Given the description of an element on the screen output the (x, y) to click on. 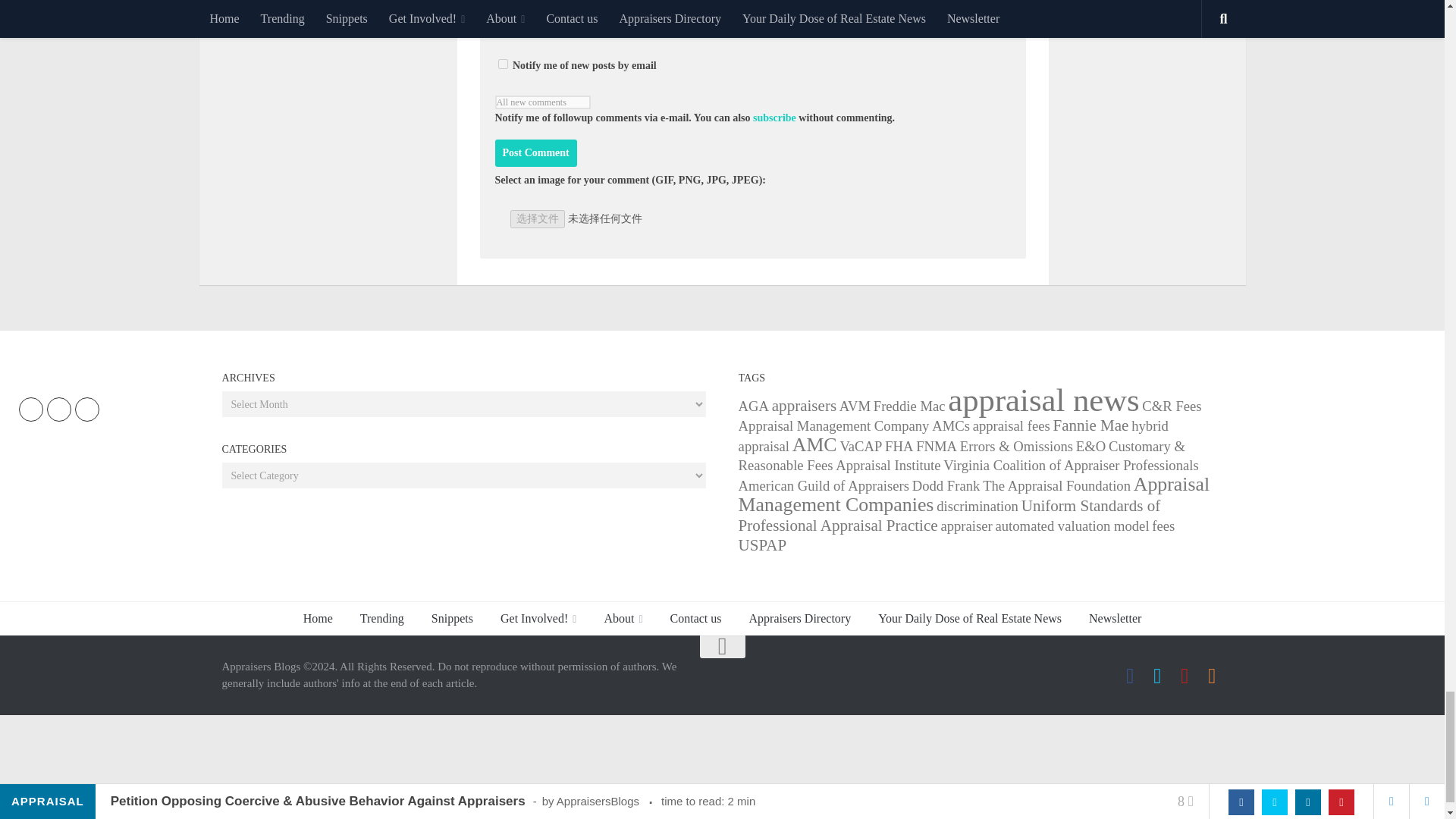
yes (501, 22)
1 (501, 63)
Post Comment (535, 153)
